Given the description of an element on the screen output the (x, y) to click on. 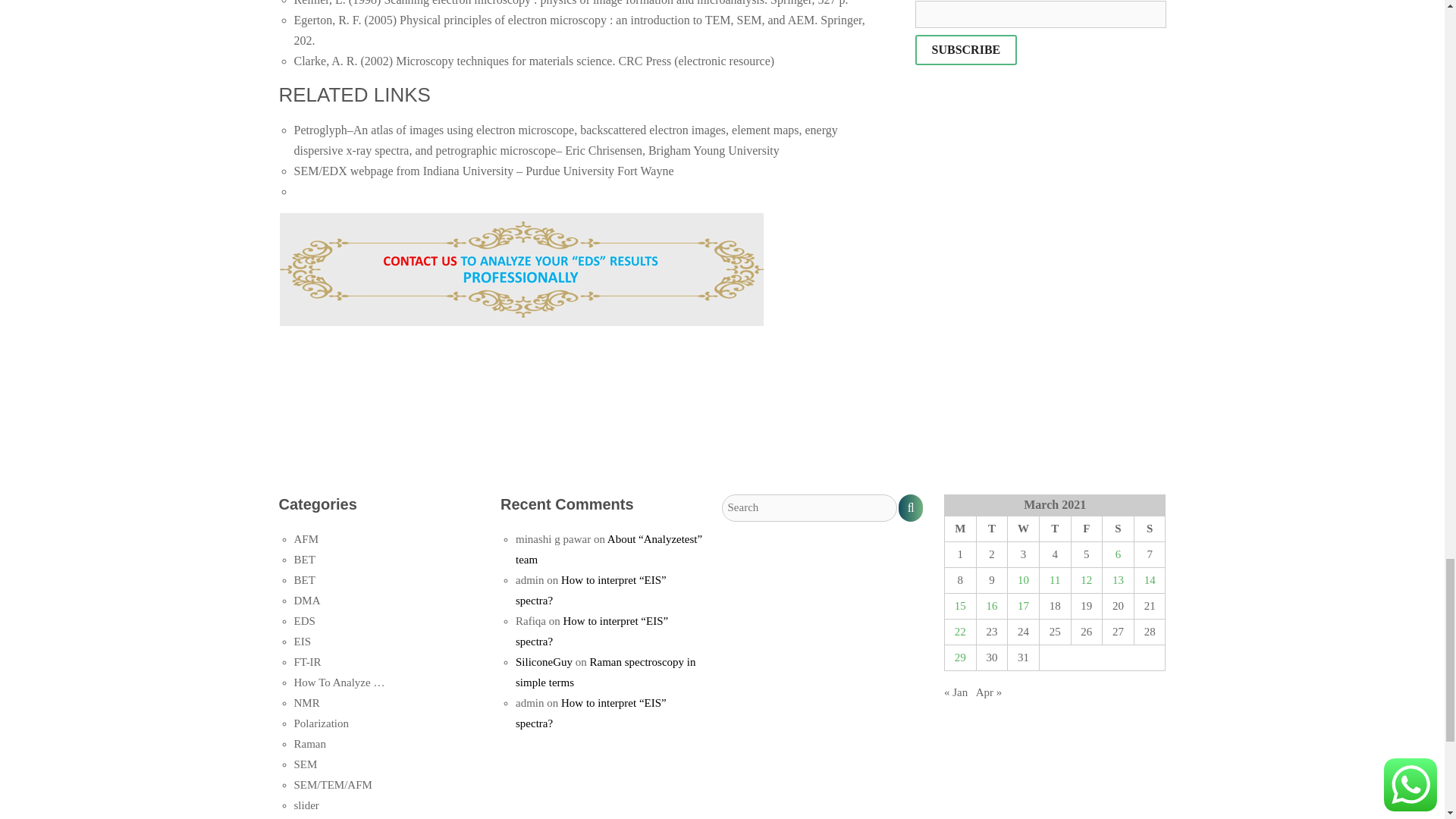
Monday (959, 529)
Sunday (1150, 529)
Friday (1086, 529)
Tuesday (991, 529)
Thursday (1054, 529)
Subscribe (966, 50)
Saturday (1118, 529)
Wednesday (1023, 529)
